Given the description of an element on the screen output the (x, y) to click on. 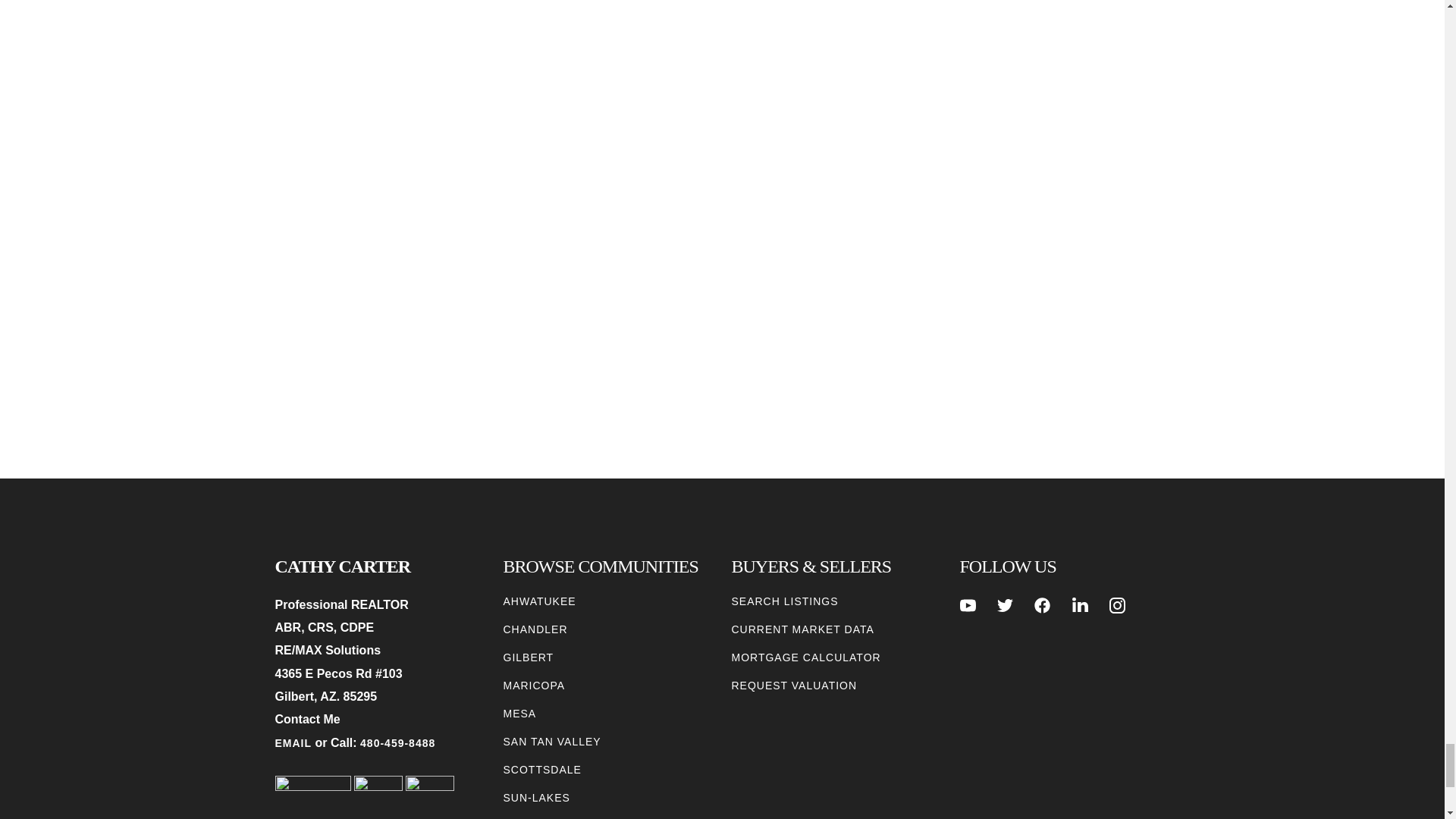
FACEBOOK (1041, 605)
LINKEDIN (1079, 605)
TWITTER (1005, 605)
YOUTUBE (967, 605)
